Given the description of an element on the screen output the (x, y) to click on. 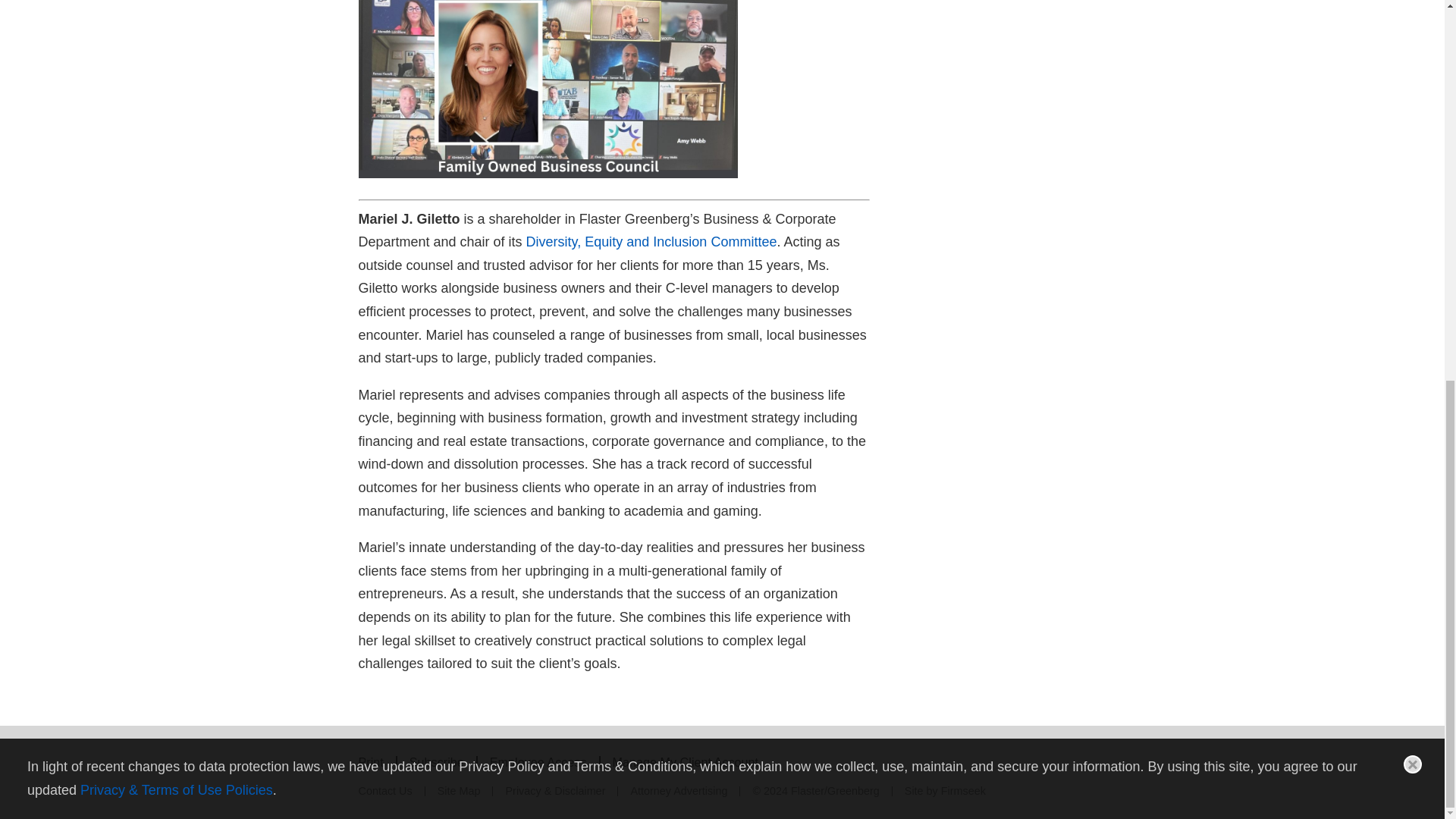
Contact Us (385, 790)
Manage My Client Account (685, 762)
Print (370, 762)
Site Map (459, 790)
Diversity, Equity and Inclusion Committee (651, 241)
Site by Firmseek (944, 790)
Attorney Advertising (678, 790)
Subscribe (436, 762)
Employee Access (537, 762)
